Given the description of an element on the screen output the (x, y) to click on. 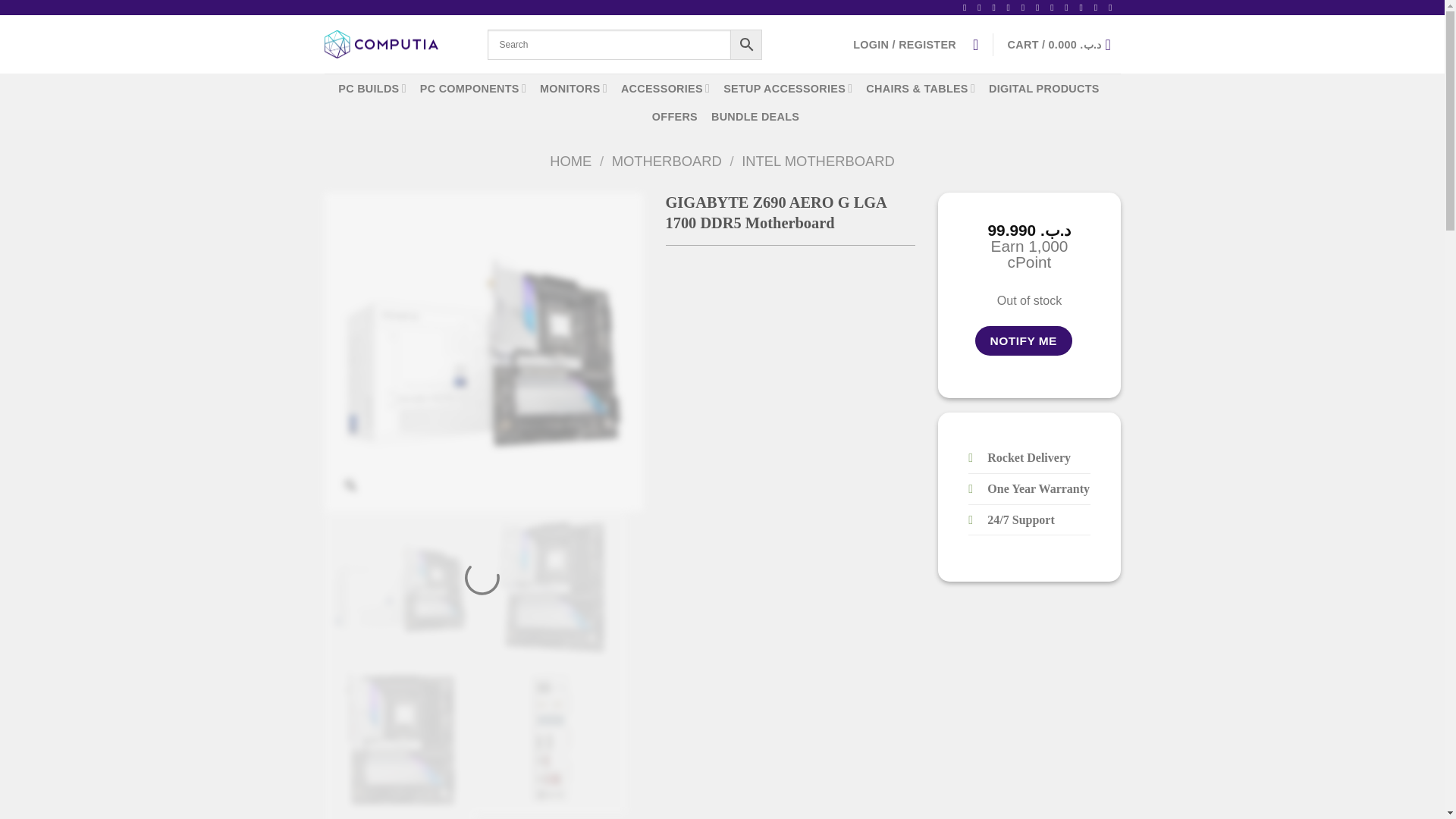
Cart (1064, 43)
Login (904, 43)
PC BUILDS (371, 88)
Follow on YouTube (1084, 7)
ACCESSORIES (665, 88)
Follow on VKontakte (1113, 7)
PC COMPONENTS (472, 88)
Follow on Instagram (981, 7)
Follow on TikTok (996, 7)
Flickr (1098, 7)
Call us (1040, 7)
Follow on Facebook (967, 7)
MONITORS (573, 88)
Follow on LinkedIn (1069, 7)
Send us an email (1026, 7)
